Given the description of an element on the screen output the (x, y) to click on. 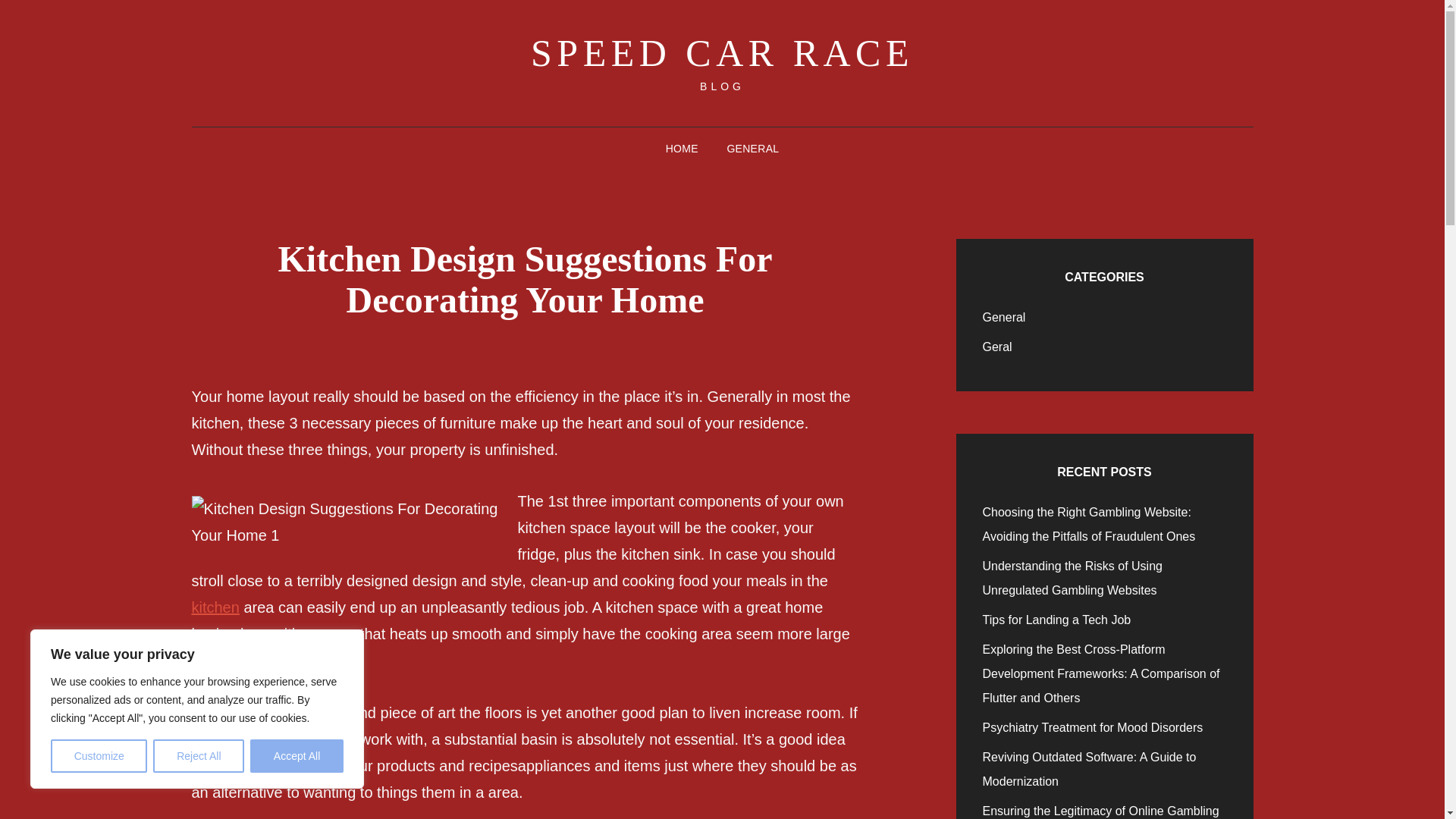
Customize (98, 756)
Accept All (296, 756)
Psychiatry Treatment for Mood Disorders (1093, 727)
Geral (996, 346)
Tips for Landing a Tech Job (1056, 619)
Reviving Outdated Software: A Guide to Modernization (1089, 769)
General (1004, 317)
SPEED CAR RACE (722, 52)
GENERAL (752, 148)
kitchen (214, 606)
HOME (681, 148)
Reject All (198, 756)
